Given the description of an element on the screen output the (x, y) to click on. 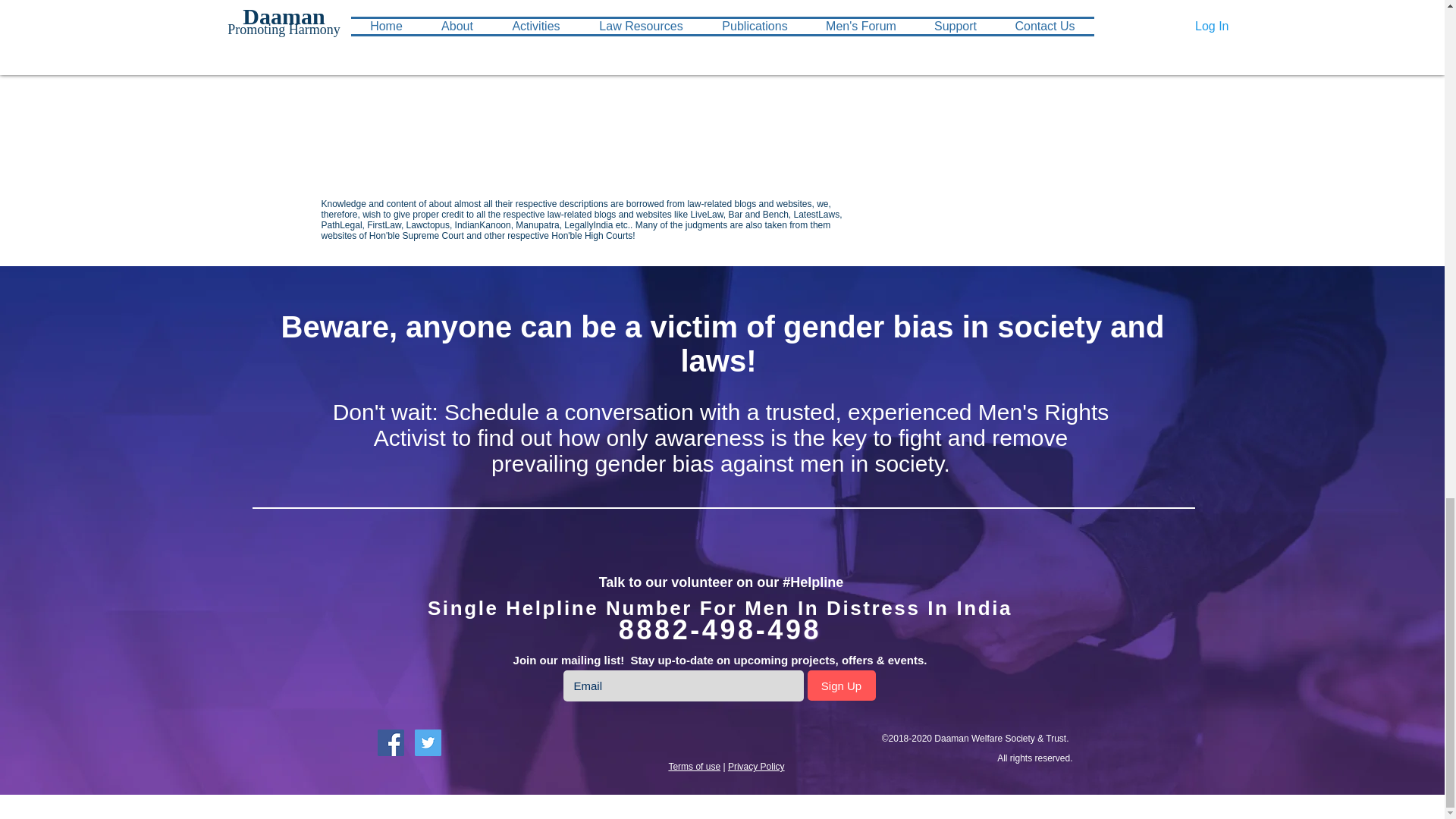
Privacy Policy (756, 766)
Sign Up (840, 685)
Terms of use (694, 766)
